Given the description of an element on the screen output the (x, y) to click on. 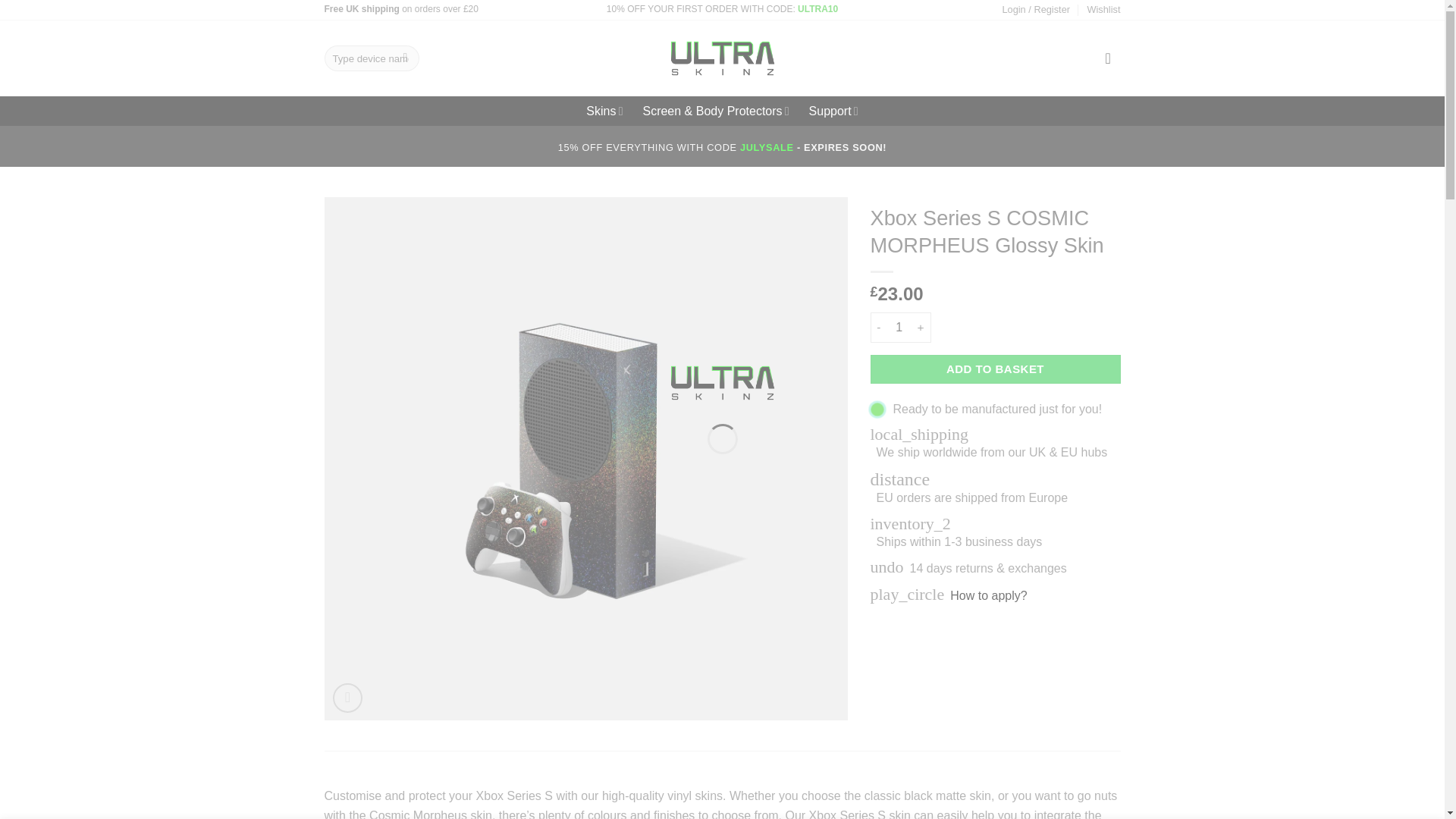
Search (405, 58)
ULTRAskinz (721, 58)
Login (1035, 9)
Wishlist (1102, 9)
ULTRAskinz (721, 381)
Zoom (347, 697)
Skins (604, 111)
Wishlist (1102, 9)
